Given the description of an element on the screen output the (x, y) to click on. 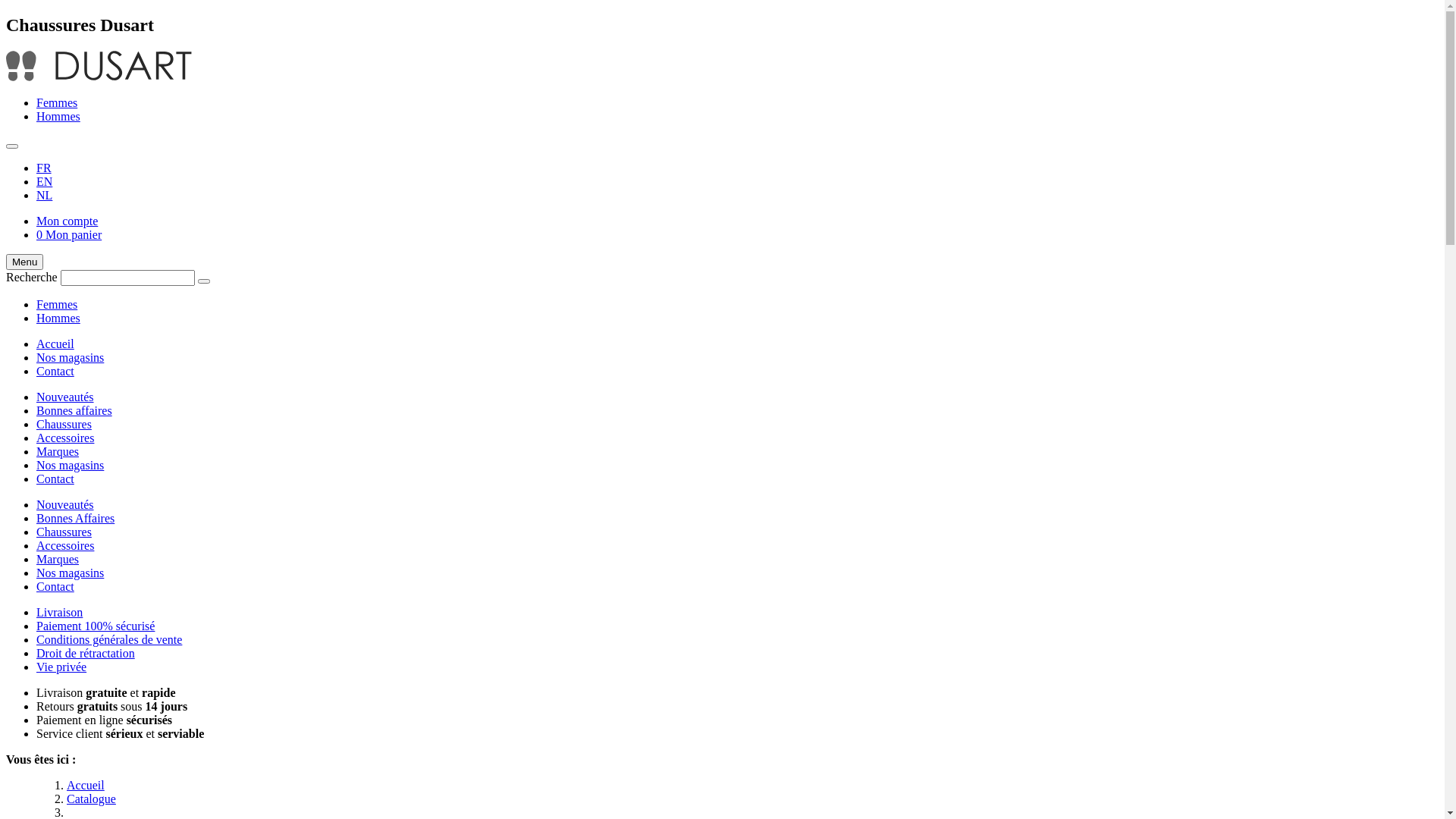
Contact Element type: text (55, 586)
Nos magasins Element type: text (69, 464)
Contact Element type: text (55, 478)
NL Element type: text (44, 194)
Menu Element type: text (24, 261)
Nos magasins Element type: text (69, 357)
Bonnes affaires Element type: text (74, 410)
Marques Element type: text (57, 451)
Catalogue Element type: text (91, 798)
Femmes Element type: text (56, 304)
EN Element type: text (44, 181)
FR Element type: text (43, 167)
Accueil Element type: text (55, 343)
Contact Element type: text (55, 370)
0 Mon panier Element type: text (68, 234)
Bonnes Affaires Element type: text (75, 517)
Accessoires Element type: text (65, 545)
Chaussures Element type: text (63, 531)
Chaussures Element type: text (63, 423)
Livraison Element type: text (59, 611)
Accueil Element type: text (85, 784)
Marques Element type: text (57, 558)
Mon compte Element type: text (66, 220)
Nos magasins Element type: text (69, 572)
Hommes Element type: text (58, 317)
Femmes Element type: text (56, 102)
Hommes Element type: text (58, 115)
Accessoires Element type: text (65, 437)
